Given the description of an element on the screen output the (x, y) to click on. 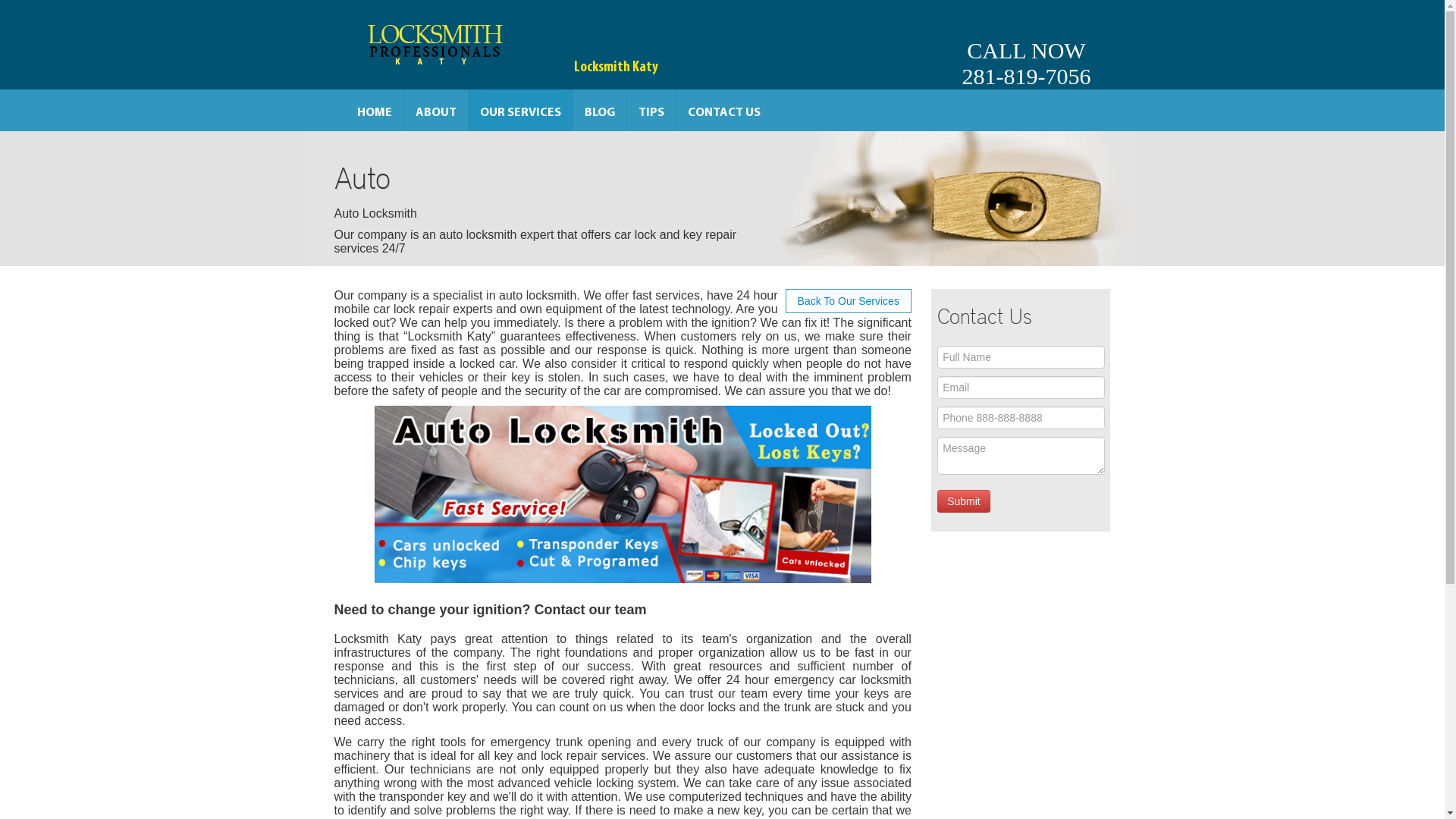
BLOG Element type: text (599, 109)
TIPS Element type: text (650, 109)
CALL NOW
281-819-7056 Element type: text (1025, 44)
HOME Element type: text (374, 109)
OUR SERVICES Element type: text (520, 109)
Submit Element type: text (963, 500)
CONTACT US Element type: text (723, 109)
Auto Locksmith in Katy Element type: hover (622, 494)
Back To Our Services Element type: text (848, 300)
ABOUT Element type: text (435, 109)
